Given the description of an element on the screen output the (x, y) to click on. 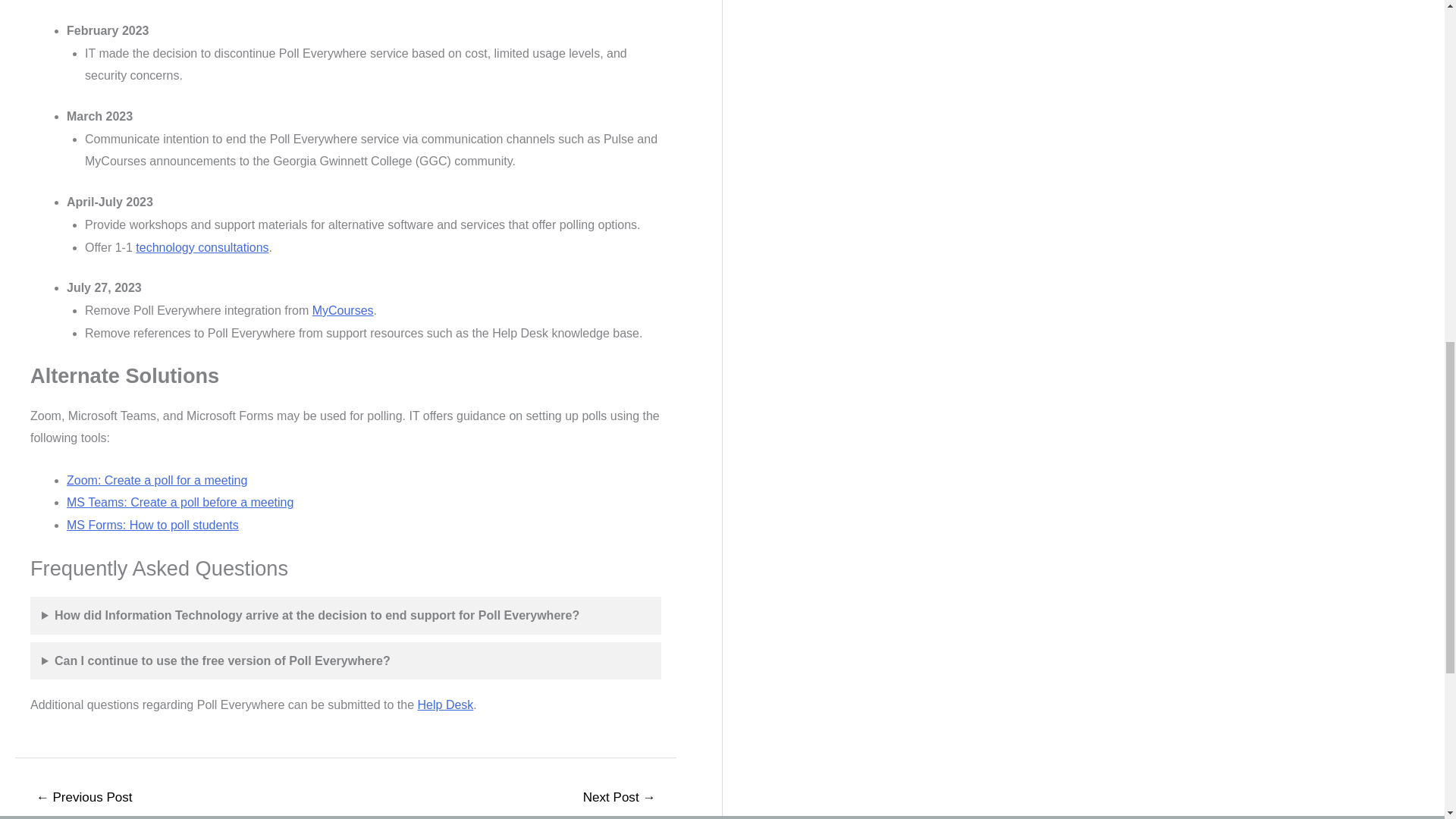
Help Desk (445, 704)
MyCourses (343, 309)
technology consultations (201, 246)
Zoom: Create a poll for a meeting (156, 480)
MS Forms: How to poll students (152, 524)
MS Teams: Create a poll before a meeting (180, 502)
